Given the description of an element on the screen output the (x, y) to click on. 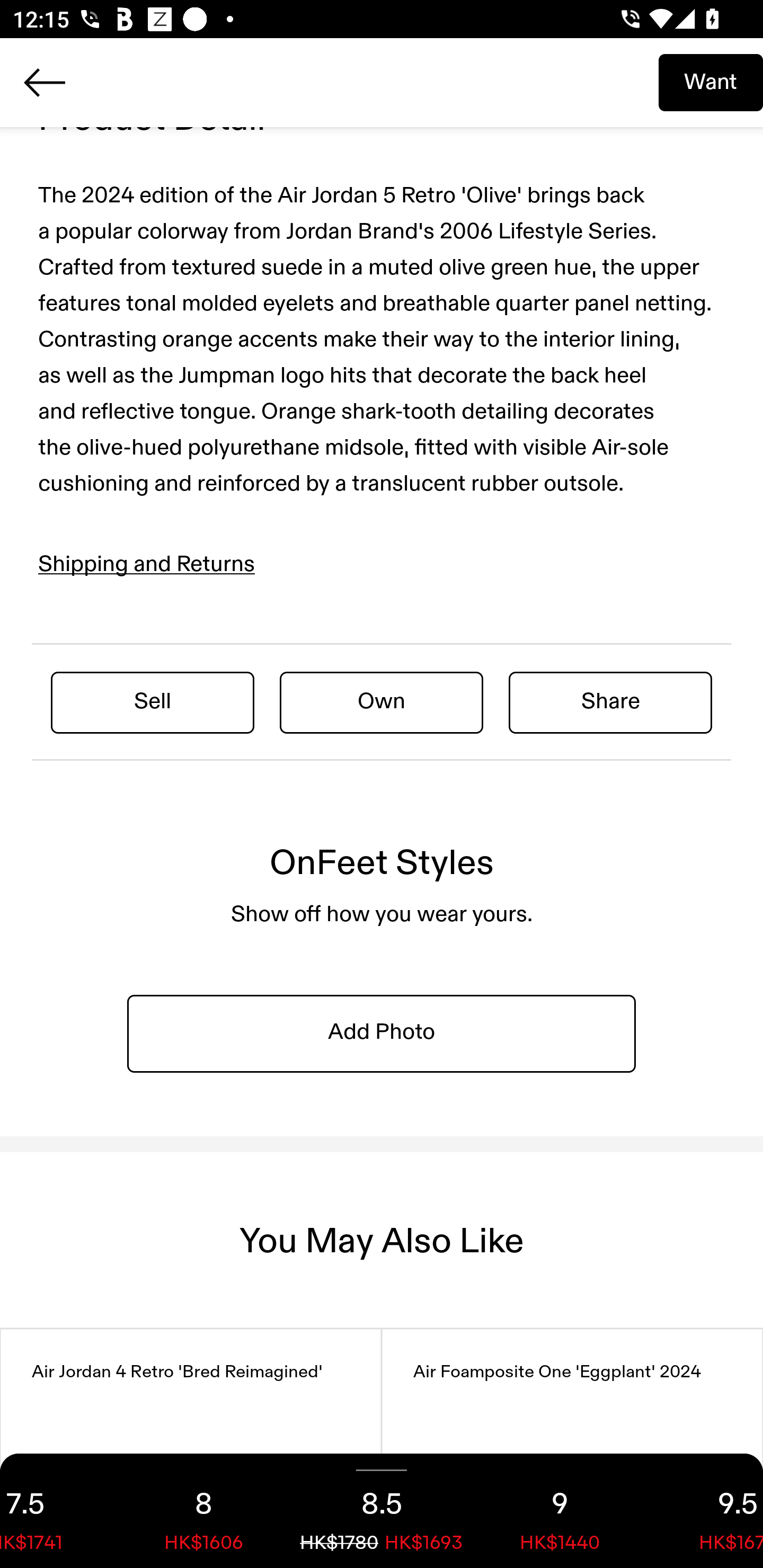
Want (710, 82)
Shipping and Returns (146, 564)
Sell (152, 701)
Own (381, 701)
Share (609, 701)
Add Photo (381, 1032)
Air Jordan 4 Retro 'Bred Reimagined' (190, 1448)
Air Foamposite One 'Eggplant' 2024 (572, 1448)
7.5 HK$1741 (57, 1510)
8 HK$1606 (203, 1510)
8.5 HK$1780 HK$1693 (381, 1510)
9 HK$1440 (559, 1510)
9.5 HK$1670 (705, 1510)
